Given the description of an element on the screen output the (x, y) to click on. 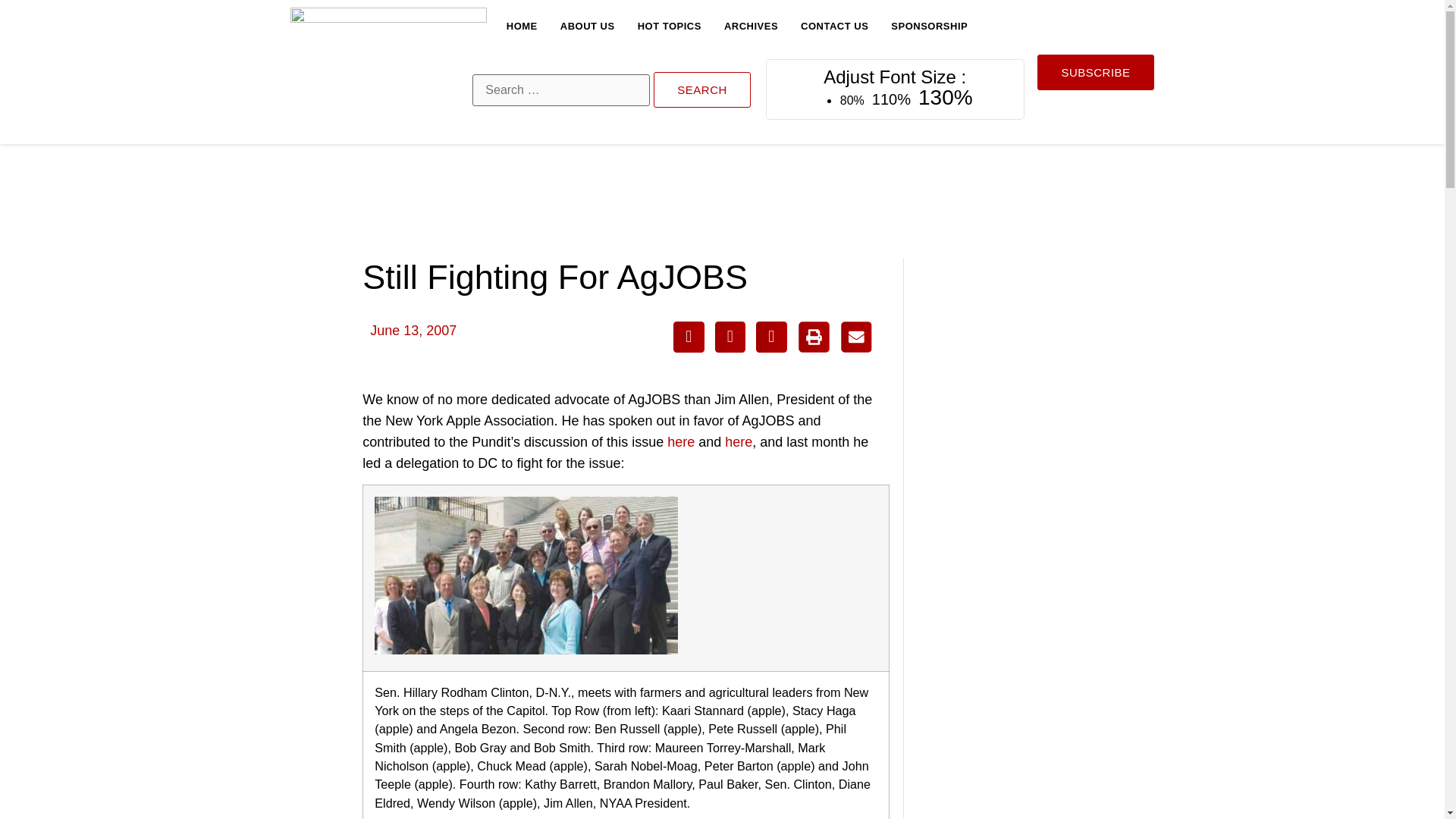
Search (702, 89)
Search (702, 89)
ABOUT US (587, 26)
ARCHIVES (750, 26)
HOT TOPICS (669, 26)
CONTACT US (833, 26)
HOME (521, 26)
SPONSORSHIP (929, 26)
